Given the description of an element on the screen output the (x, y) to click on. 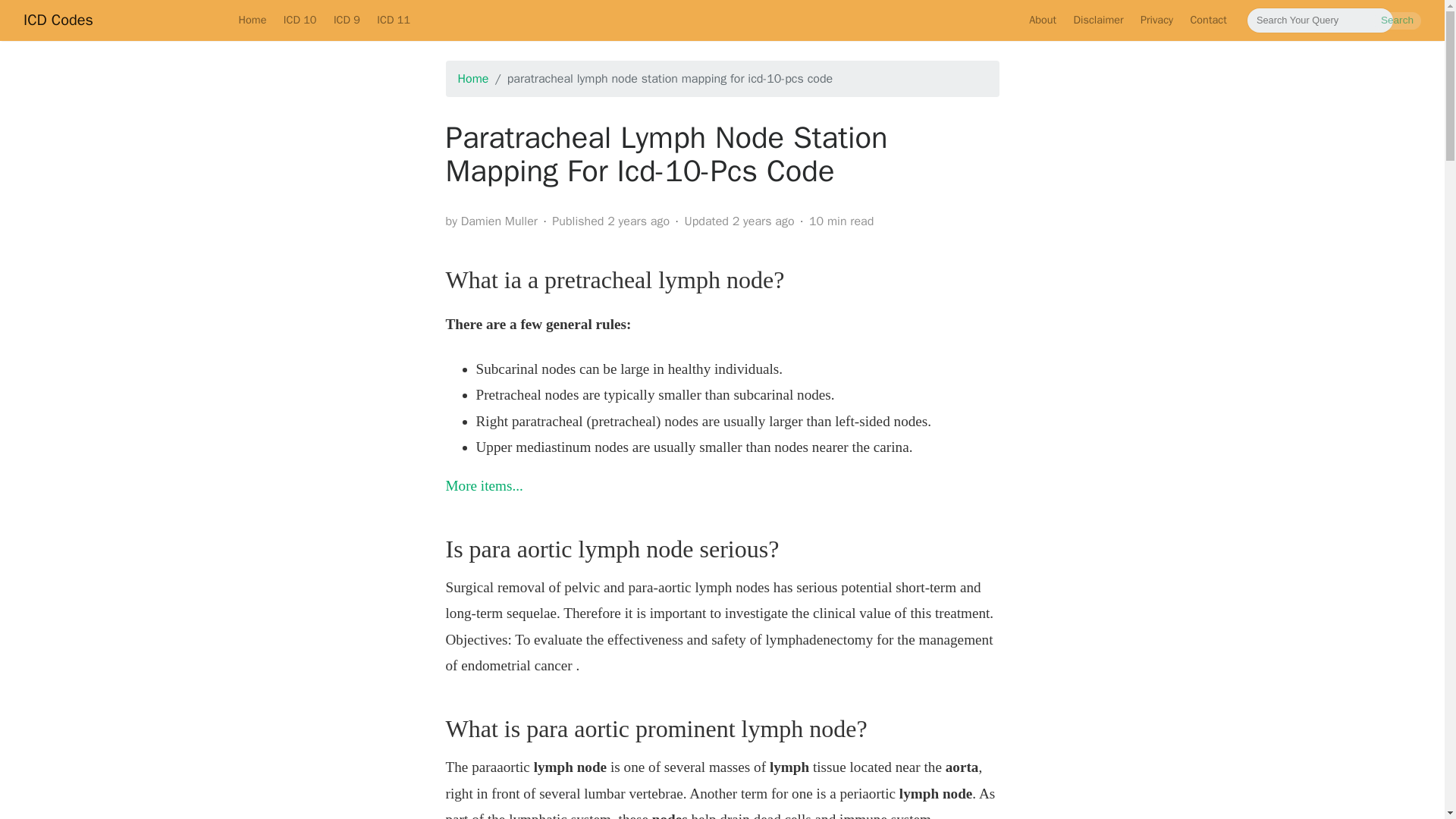
Disclaimer (1097, 20)
About (1042, 20)
Contact (1207, 20)
Privacy (1157, 20)
ICD 9 (346, 20)
ICD 11 (393, 20)
ICD Codes (58, 20)
Home (252, 20)
ICD 10 (299, 20)
Search (1397, 20)
